Given the description of an element on the screen output the (x, y) to click on. 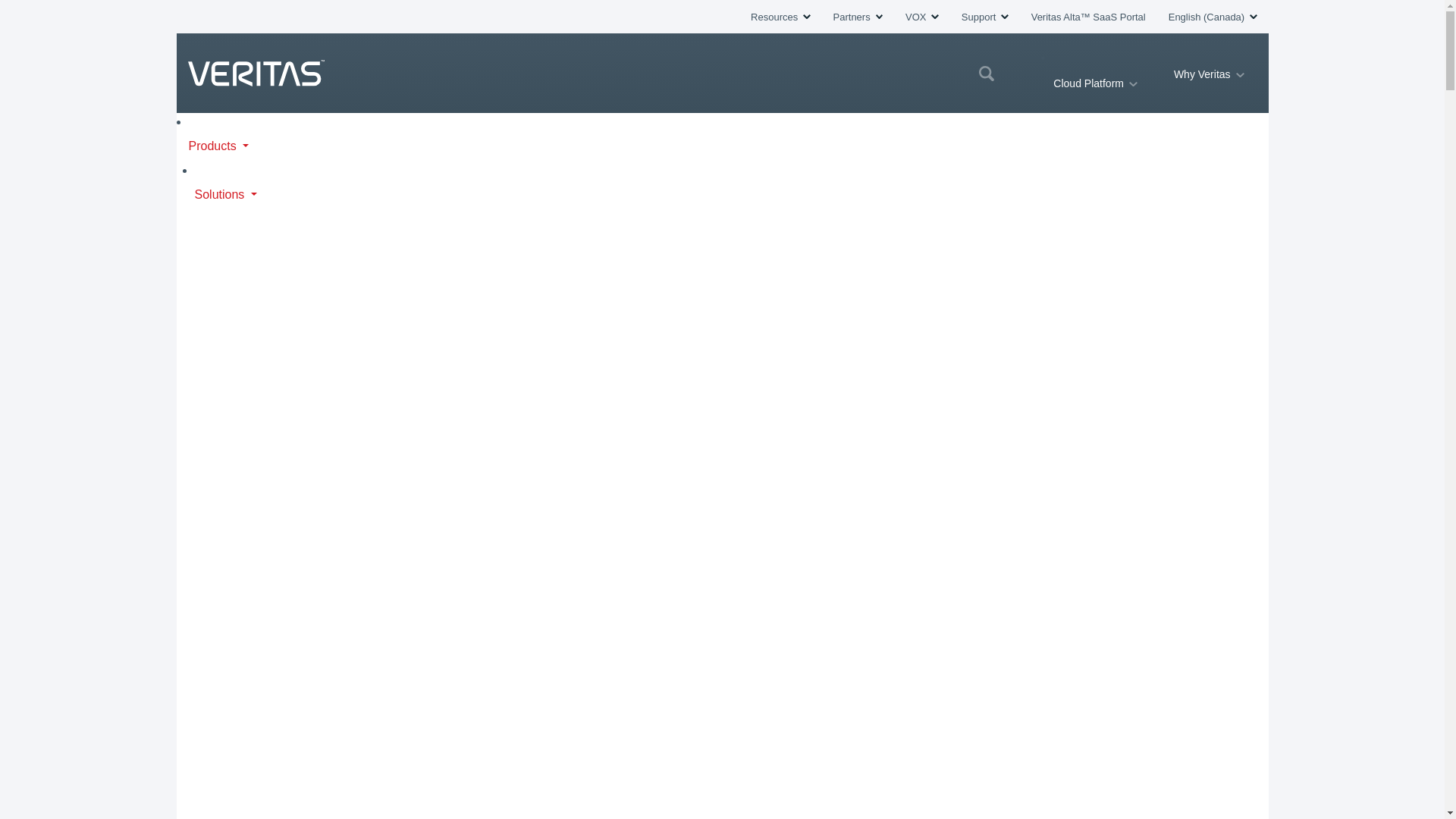
Resources (780, 16)
Support (984, 16)
VOX (922, 16)
Partners (857, 16)
